Given the description of an element on the screen output the (x, y) to click on. 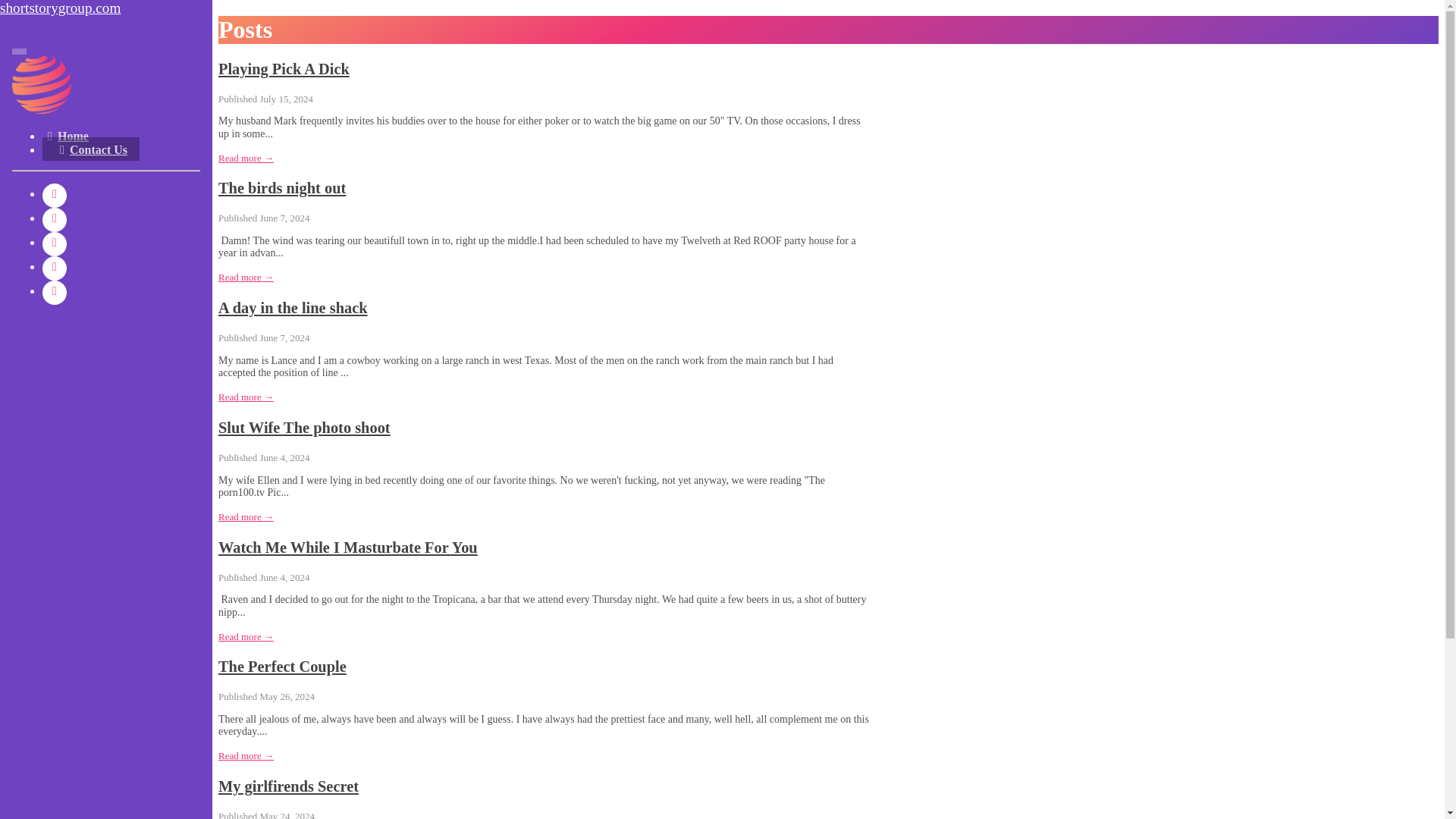
The birds night out (282, 187)
A day in the line shack (293, 307)
My girlfirends Secret (288, 786)
Contact Us (90, 148)
Playing Pick A Dick (283, 68)
shortstorygroup.com (106, 8)
The Perfect Couple (282, 666)
Slut Wife The photo shoot (304, 427)
Watch Me While I Masturbate For You (347, 547)
